Given the description of an element on the screen output the (x, y) to click on. 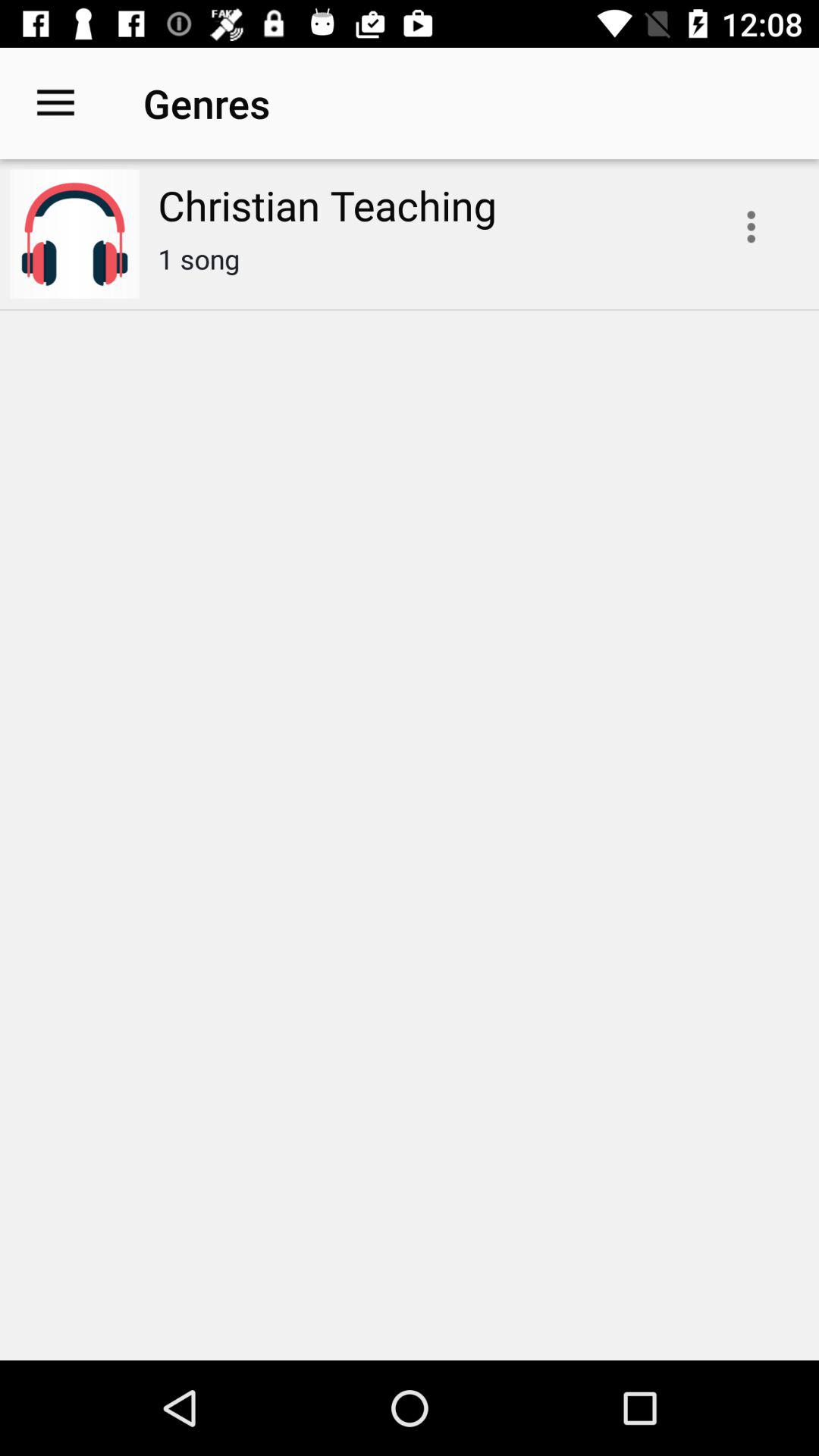
turn on the icon next to the christian teaching icon (750, 226)
